Given the description of an element on the screen output the (x, y) to click on. 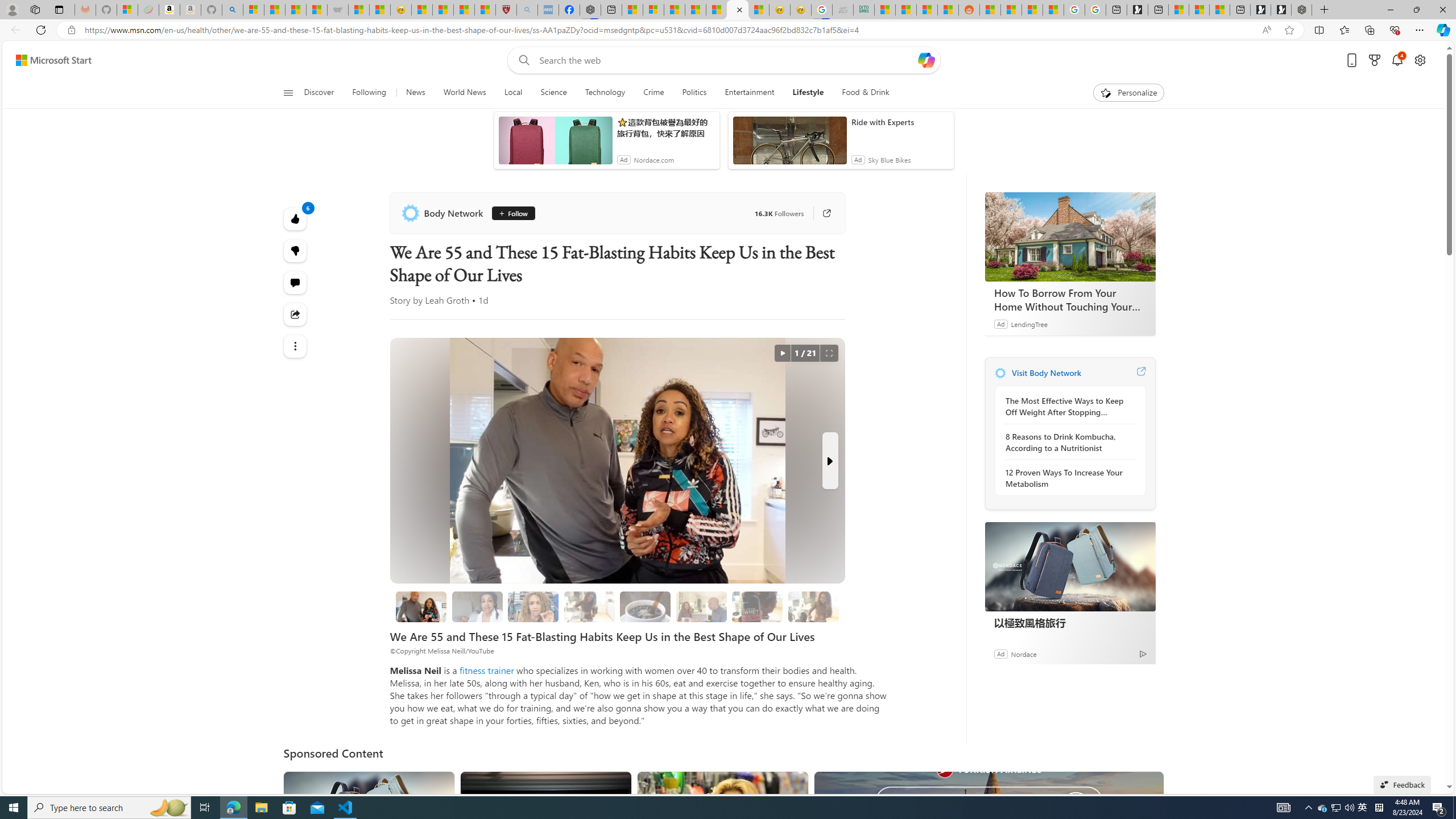
7 They Don't Skip Meals (812, 606)
R******* | Trusted Community Engagement and Contributions (990, 9)
Full screen (828, 352)
autorotate button (782, 352)
